Given the description of an element on the screen output the (x, y) to click on. 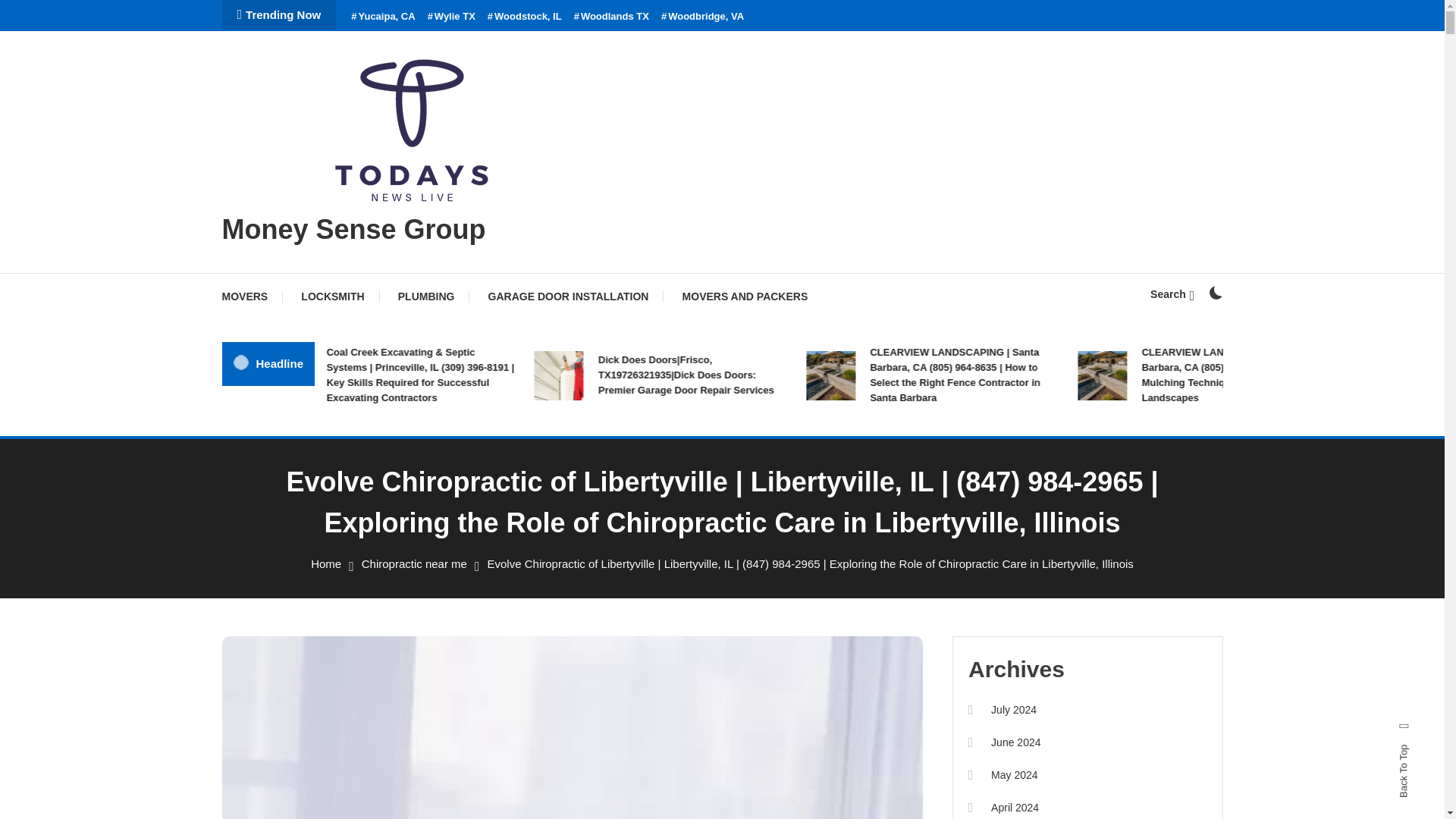
Woodbridge, VA (702, 16)
Search (768, 434)
on (1215, 292)
Woodstock, IL (524, 16)
LOCKSMITH (331, 296)
Woodlands TX (611, 16)
GARAGE DOOR INSTALLATION (568, 296)
Home (325, 563)
Yucaipa, CA (382, 16)
MOVERS AND PACKERS (745, 296)
MOVERS (251, 296)
Money Sense Group (352, 228)
Search (1171, 294)
Wylie TX (452, 16)
Chiropractic near me (414, 563)
